Given the description of an element on the screen output the (x, y) to click on. 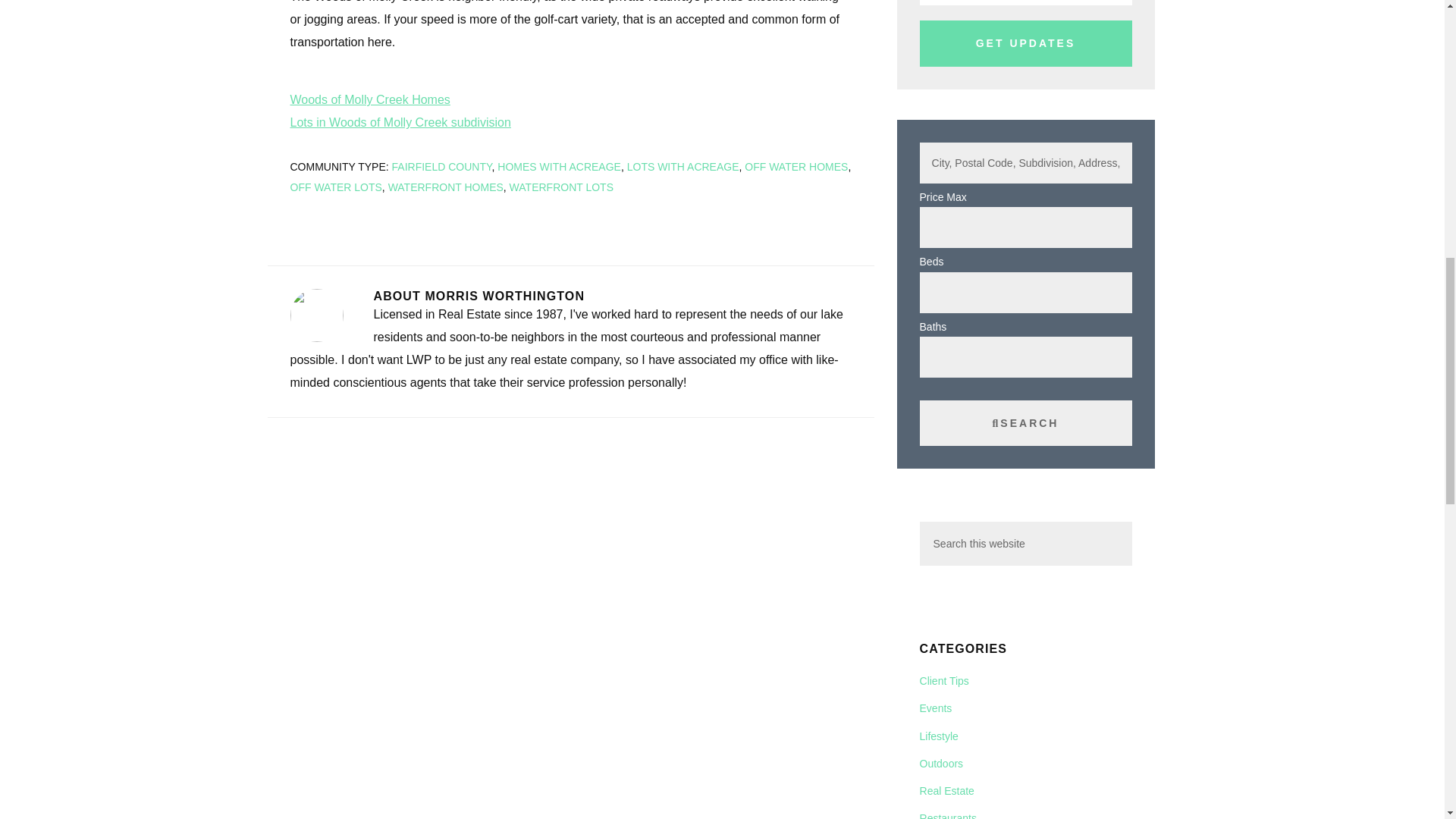
GET UPDATES (1026, 43)
OFF WATER HOMES (795, 166)
HOMES WITH ACREAGE (559, 166)
LOTS WITH ACREAGE (683, 166)
WATERFRONT HOMES (445, 186)
Lots in Woods of Molly Creek subdivision (400, 122)
WATERFRONT LOTS (560, 186)
OFF WATER LOTS (335, 186)
Woods of Molly Creek Homes (369, 99)
